Given the description of an element on the screen output the (x, y) to click on. 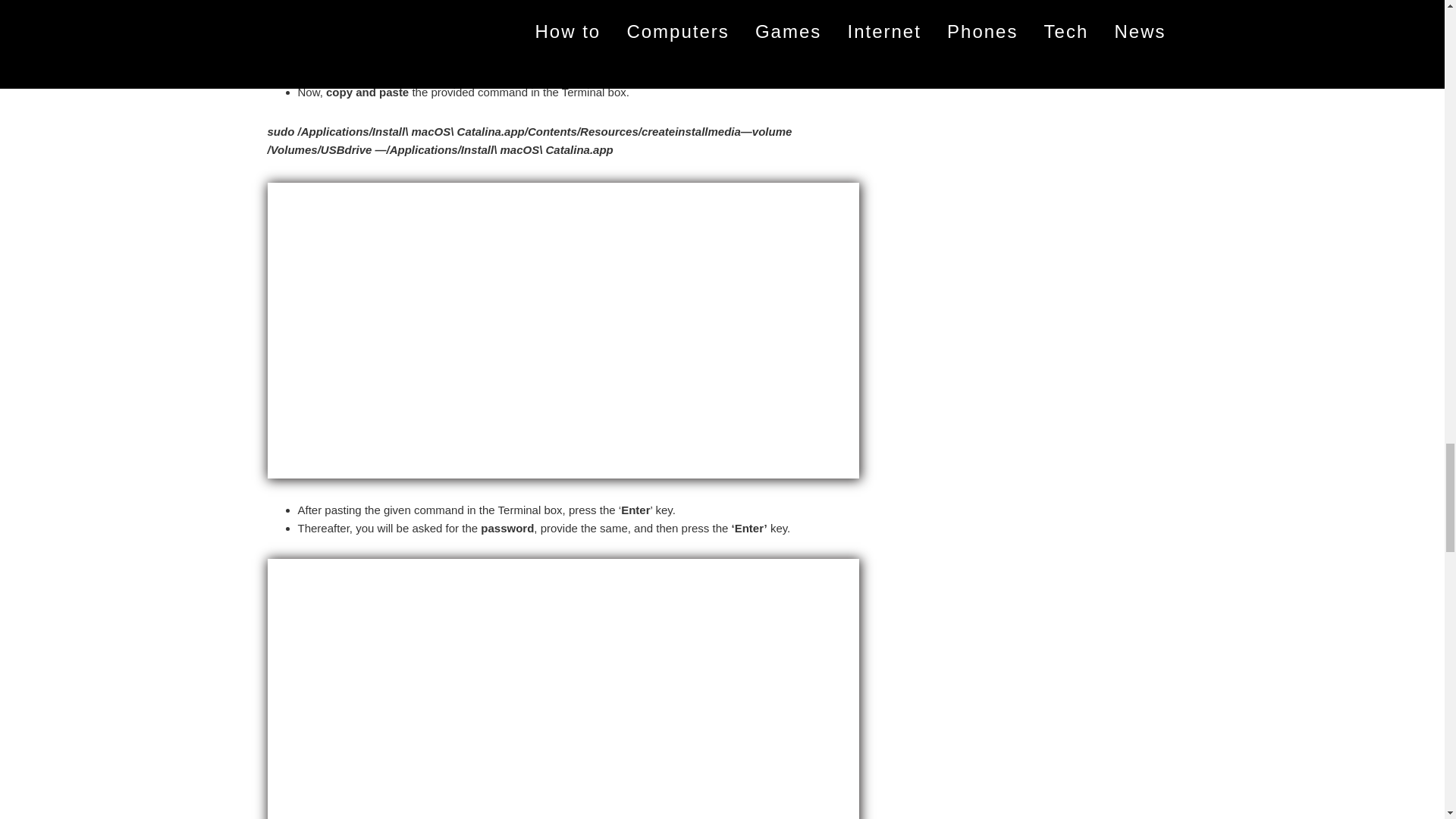
How to Create a Bootable USB for macOS Catalina? (562, 30)
